Given the description of an element on the screen output the (x, y) to click on. 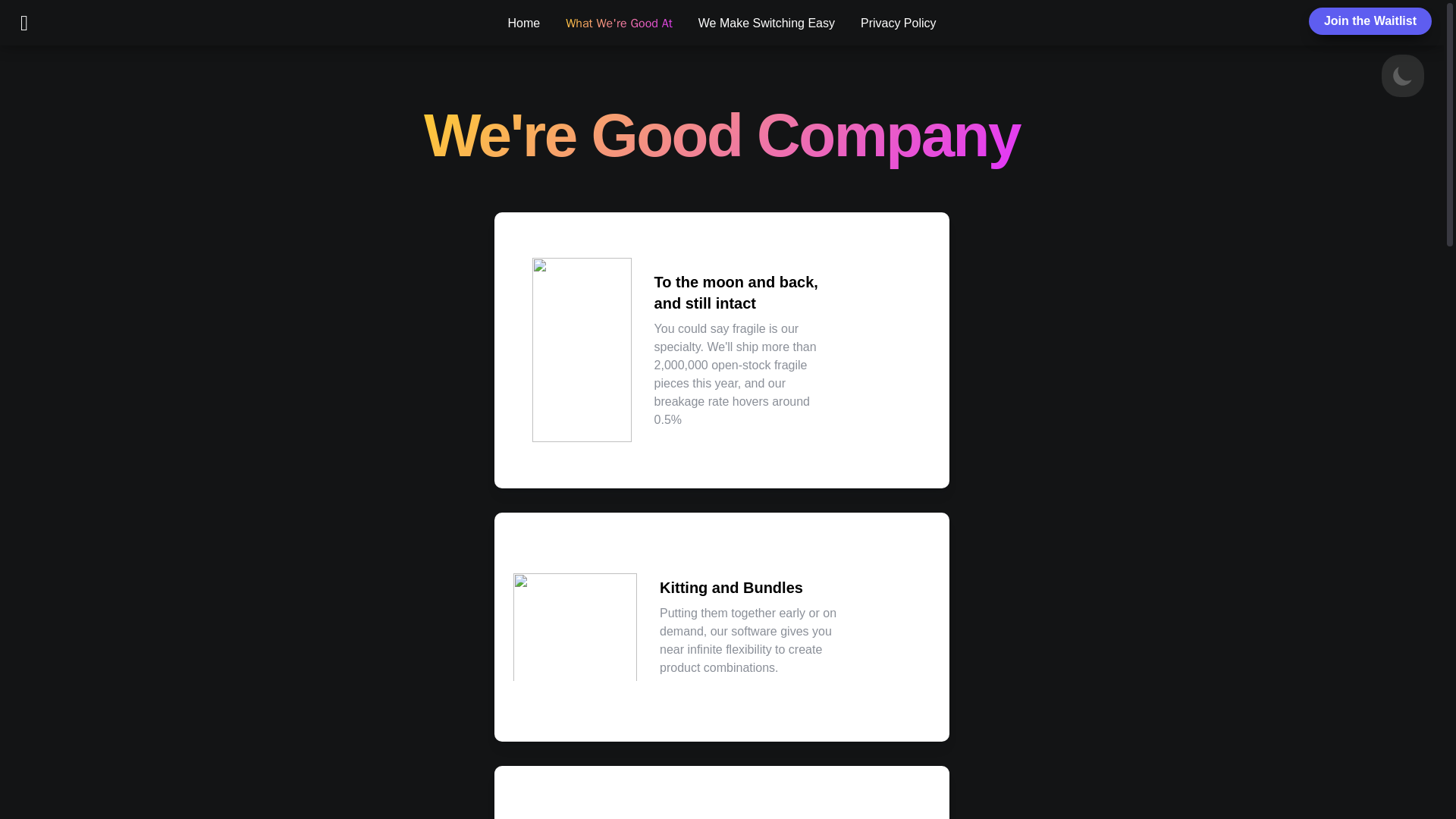
Join the Waitlist (1369, 21)
We Make Switching Easy (766, 22)
Home (523, 22)
Privacy Policy (898, 22)
What We're Good At (619, 22)
